Given the description of an element on the screen output the (x, y) to click on. 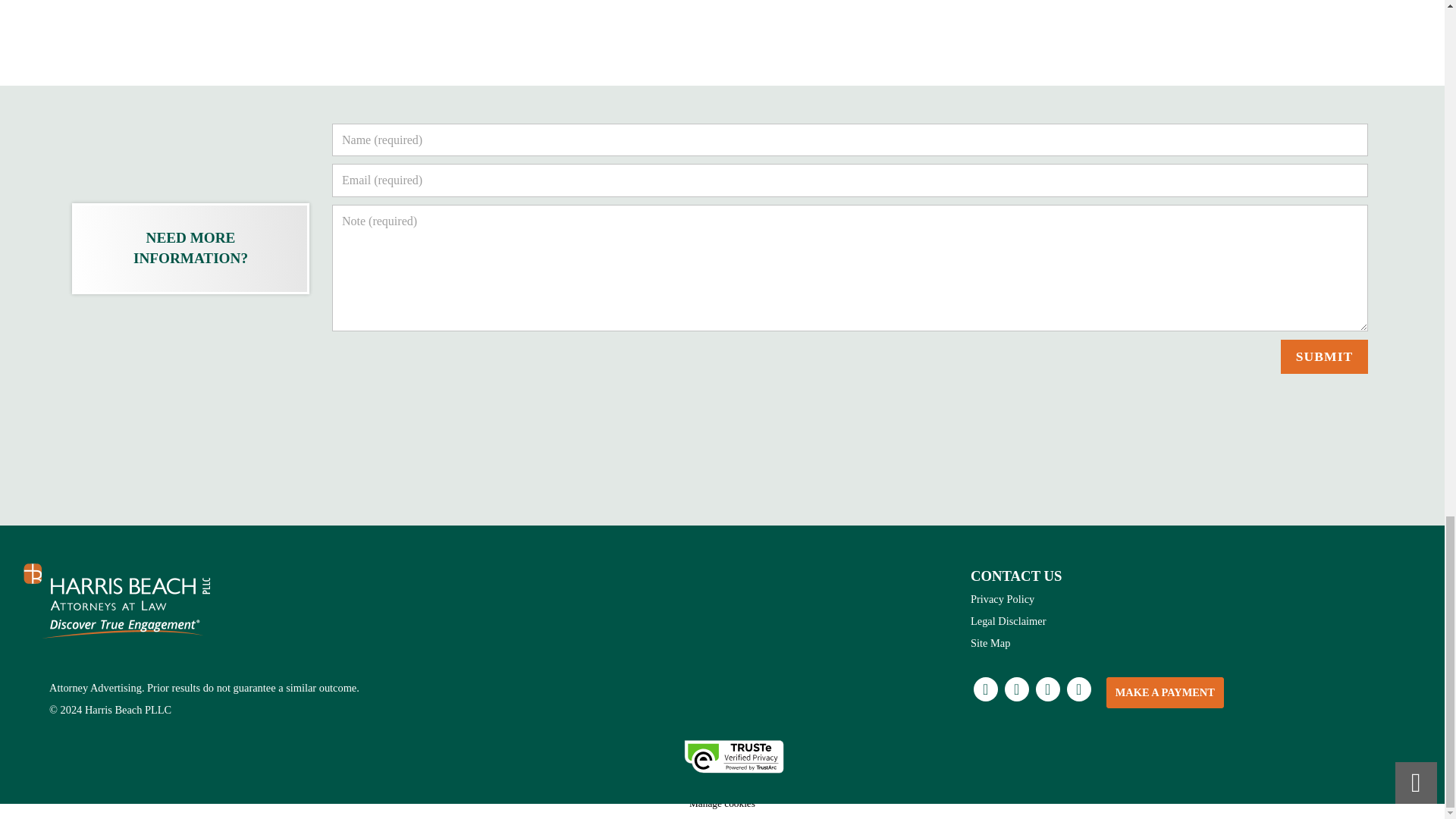
harris-beach-full-logo-white (117, 601)
